Given the description of an element on the screen output the (x, y) to click on. 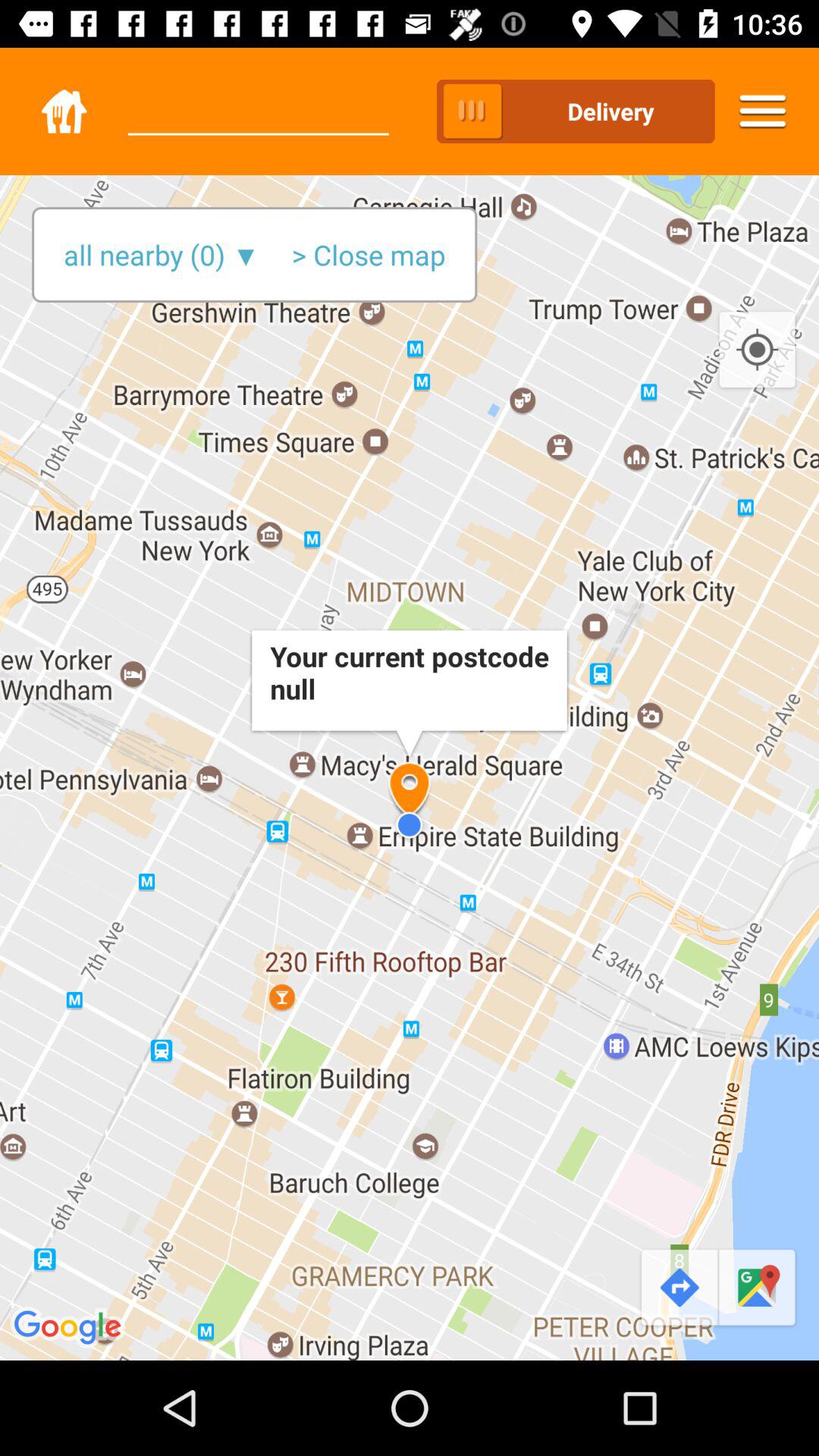
tap the icon to the left of pickup (258, 98)
